Given the description of an element on the screen output the (x, y) to click on. 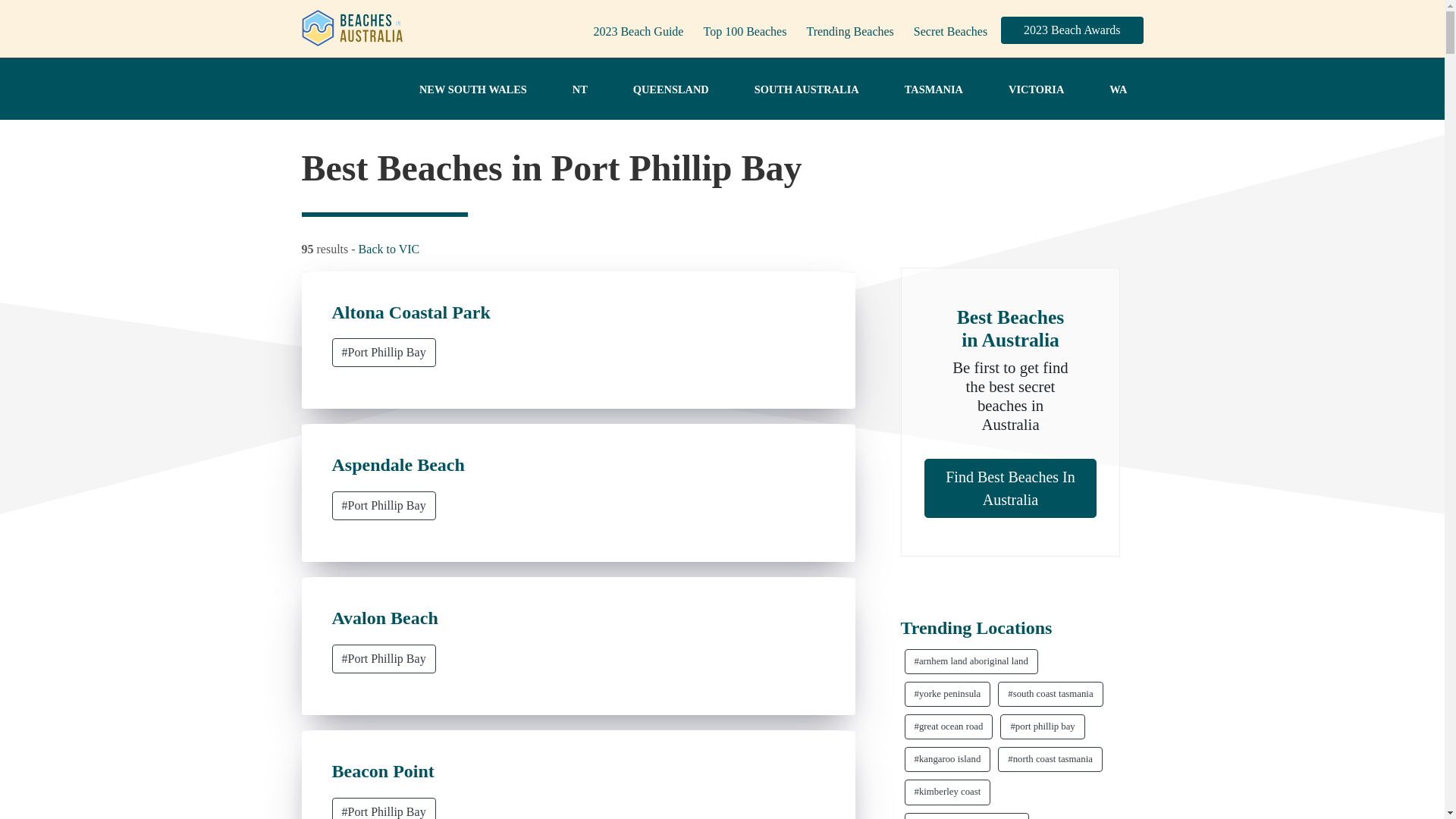
NEW SOUTH WALES (472, 90)
Beacon Point (382, 771)
Aspendale Beach (397, 465)
TASMANIA (933, 90)
WA (1117, 90)
QUEENSLAND (670, 90)
Secret Beaches (949, 31)
Back to VIC (389, 248)
VICTORIA (1035, 90)
Altona Coastal Park (410, 312)
SOUTH AUSTRALIA (807, 90)
Trending Beaches (849, 31)
Avalon Beach (384, 618)
2023 Beach Guide (637, 31)
2023 Beach Awards (1071, 30)
